Given the description of an element on the screen output the (x, y) to click on. 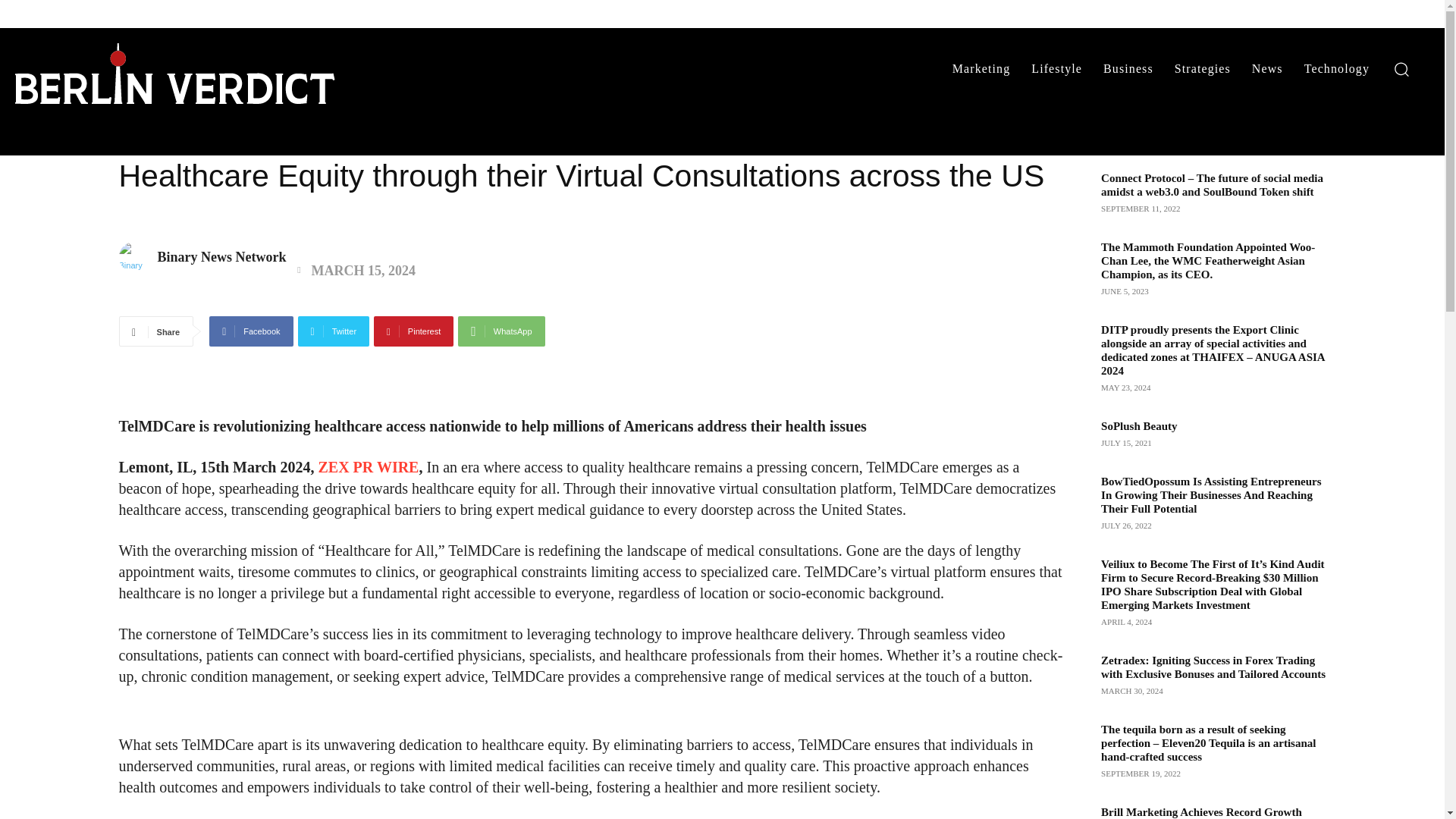
Twitter (333, 331)
Facebook (250, 331)
Strategies (1202, 67)
Pinterest (413, 331)
Binary News Network (135, 256)
Facebook (250, 331)
Pinterest (413, 331)
Twitter (333, 331)
WhatsApp (501, 331)
Lifestyle (1056, 67)
Binary News Network (221, 256)
Business (1128, 67)
ZEX PR WIRE (368, 466)
WhatsApp (501, 331)
Technology (1337, 67)
